Given the description of an element on the screen output the (x, y) to click on. 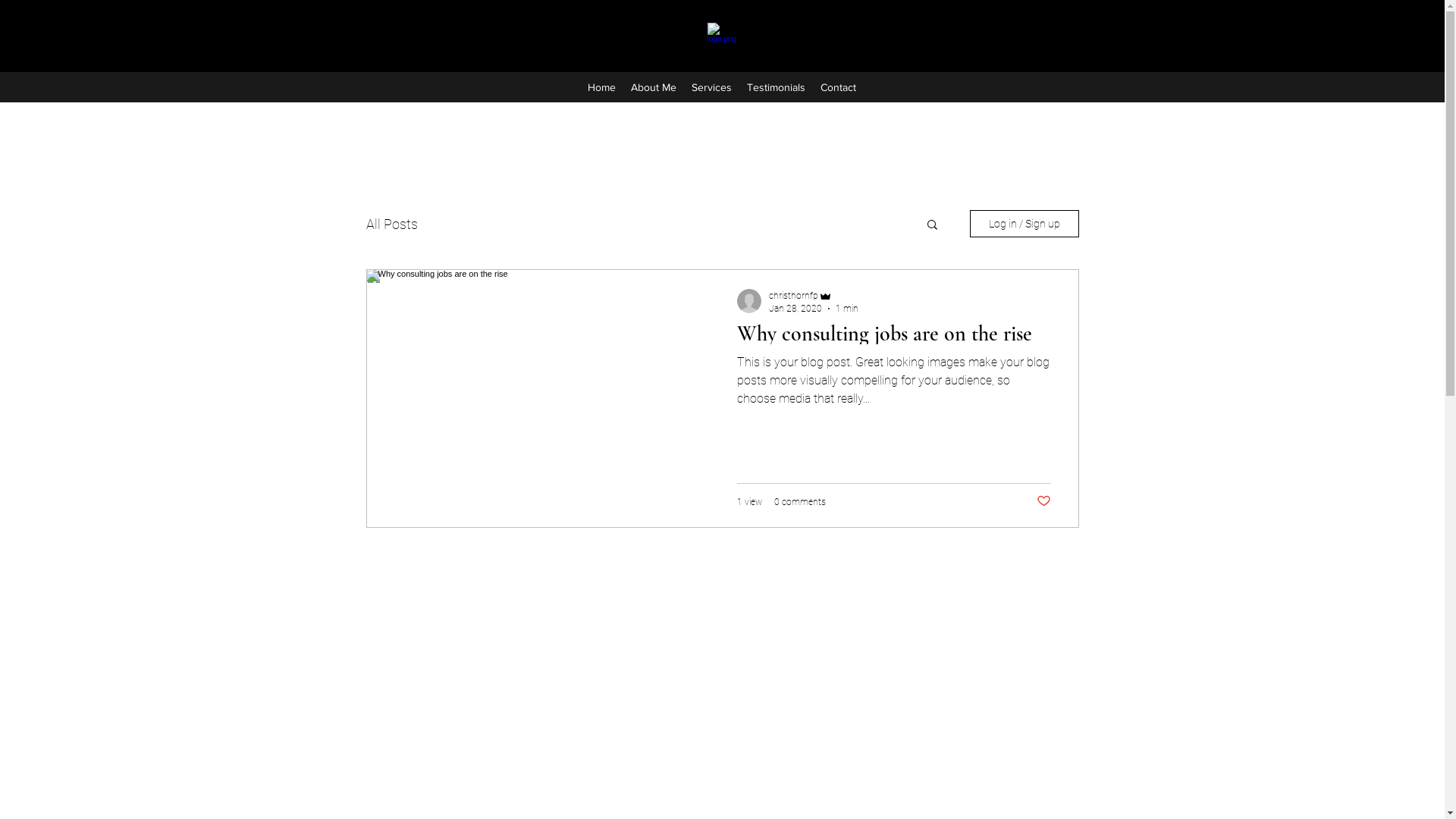
Log in / Sign up Element type: text (1023, 223)
Home Element type: text (601, 86)
Post not marked as liked Element type: text (1042, 501)
Testimonials Element type: text (775, 86)
All Posts Element type: text (391, 223)
Why consulting jobs are on the rise Element type: text (894, 338)
Contact Element type: text (837, 86)
Services Element type: text (711, 86)
0 comments Element type: text (799, 500)
About Me Element type: text (653, 86)
